Given the description of an element on the screen output the (x, y) to click on. 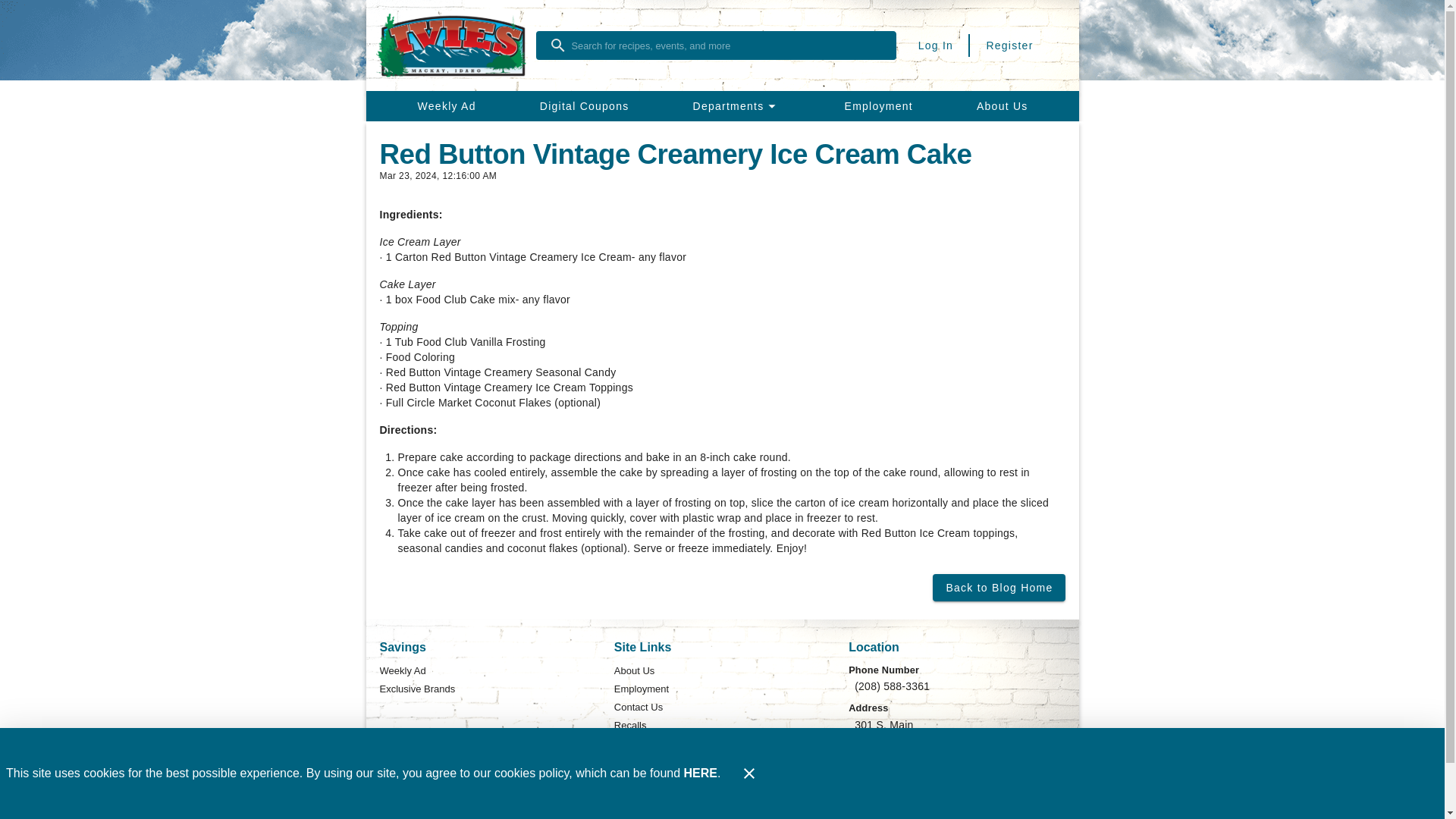
Privacy (630, 743)
Employment (641, 689)
Log In (935, 44)
Exclusive Brands (416, 689)
Recalls (630, 725)
Weekly Ad (445, 105)
Employment (877, 105)
Weekly Ad (401, 670)
Contact Us (638, 707)
Digital Coupons (584, 105)
About Us (1002, 105)
Departments (735, 105)
Back to Blog Home (998, 587)
About Us (633, 670)
Register (1008, 44)
